Given the description of an element on the screen output the (x, y) to click on. 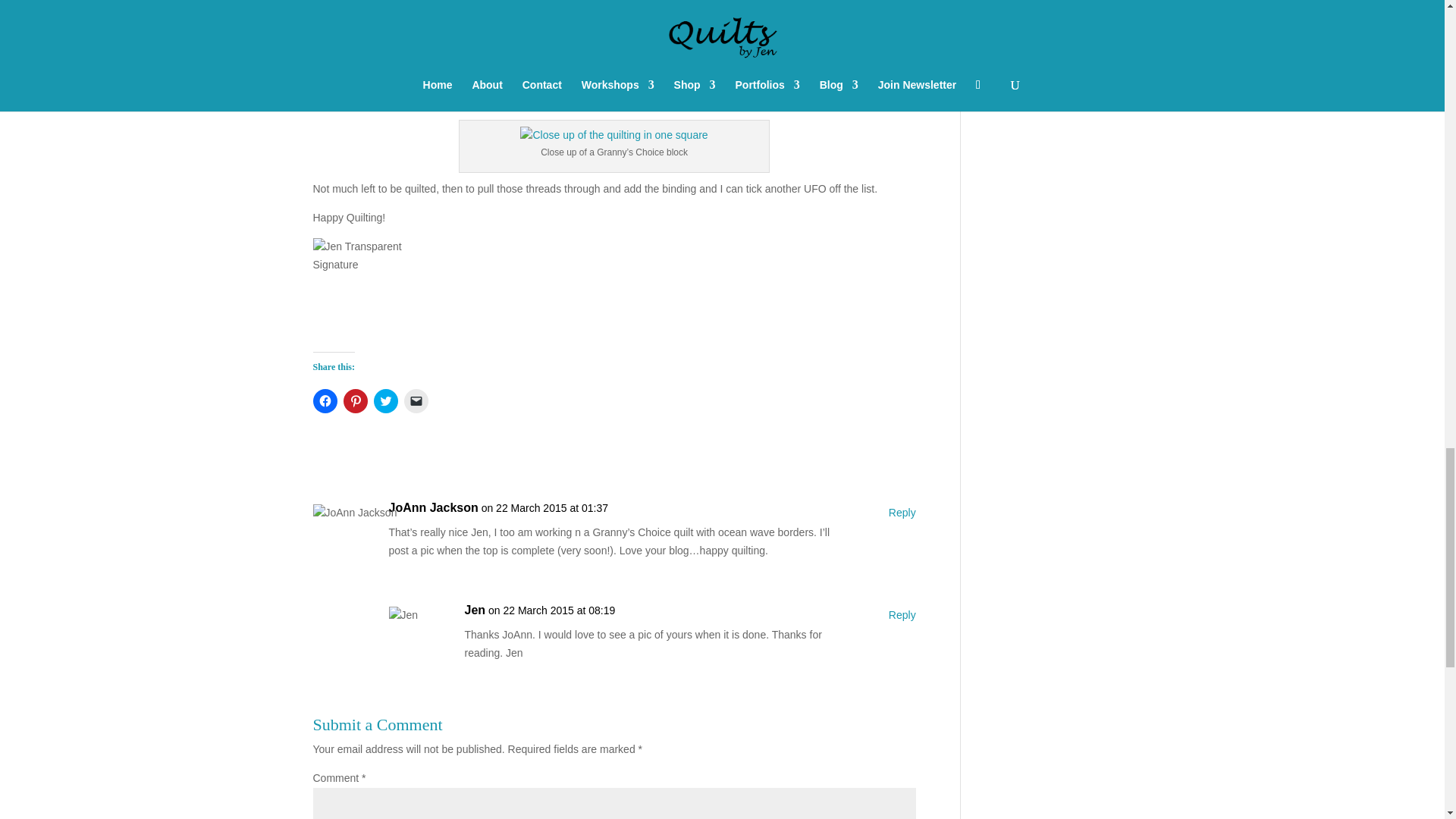
Click to email a link to a friend (415, 401)
Click to share on Pinterest (354, 401)
Click to share on Twitter (384, 401)
Click to share on Facebook (324, 401)
